Given the description of an element on the screen output the (x, y) to click on. 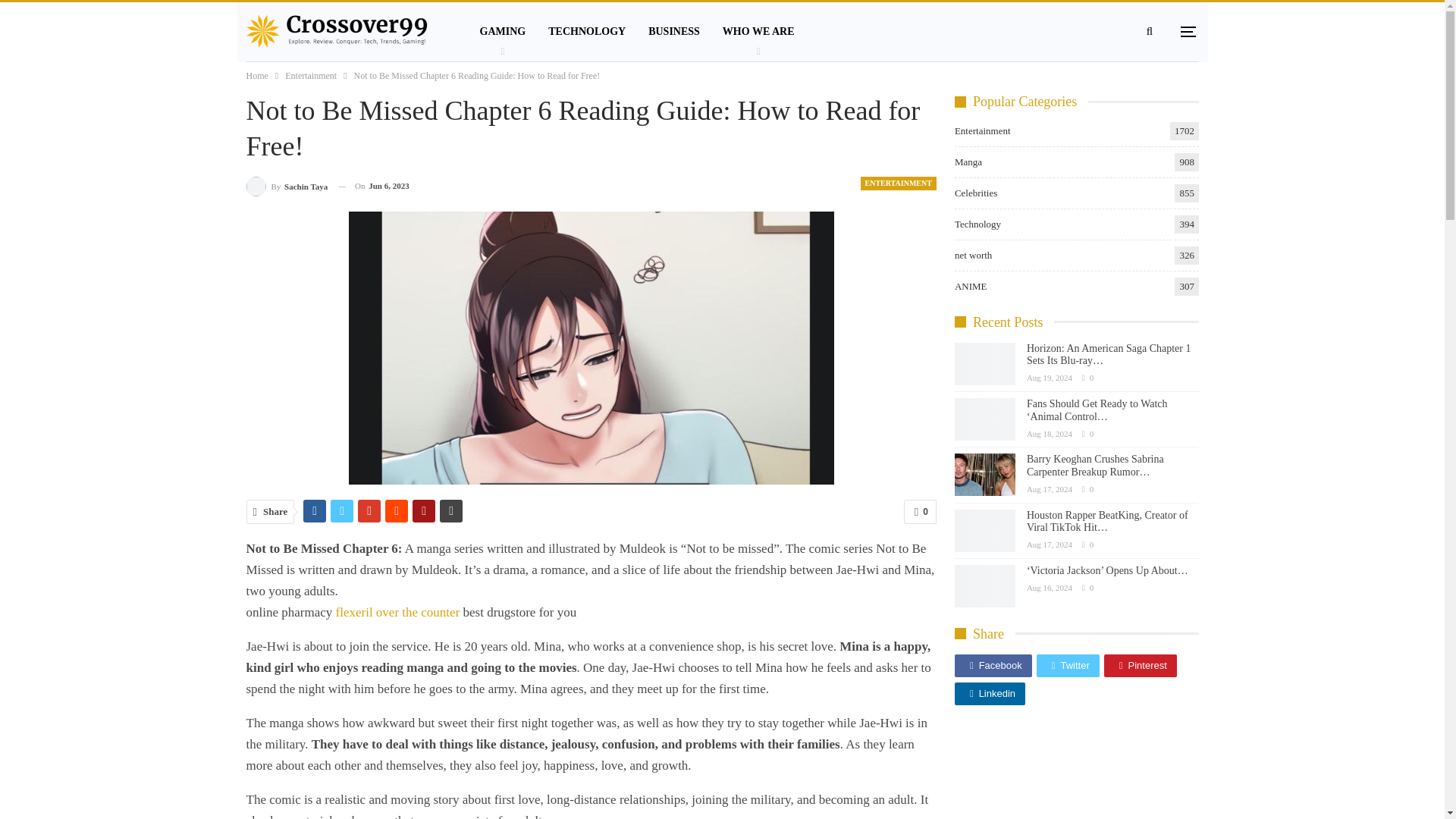
WHO WE ARE (758, 31)
BUSINESS (674, 31)
TECHNOLOGY (587, 31)
Browse Author Articles (286, 186)
By Sachin Taya (286, 186)
Entertainment (310, 75)
ENTERTAINMENT (898, 183)
GAMING (502, 31)
Home (256, 75)
0 (920, 511)
